Given the description of an element on the screen output the (x, y) to click on. 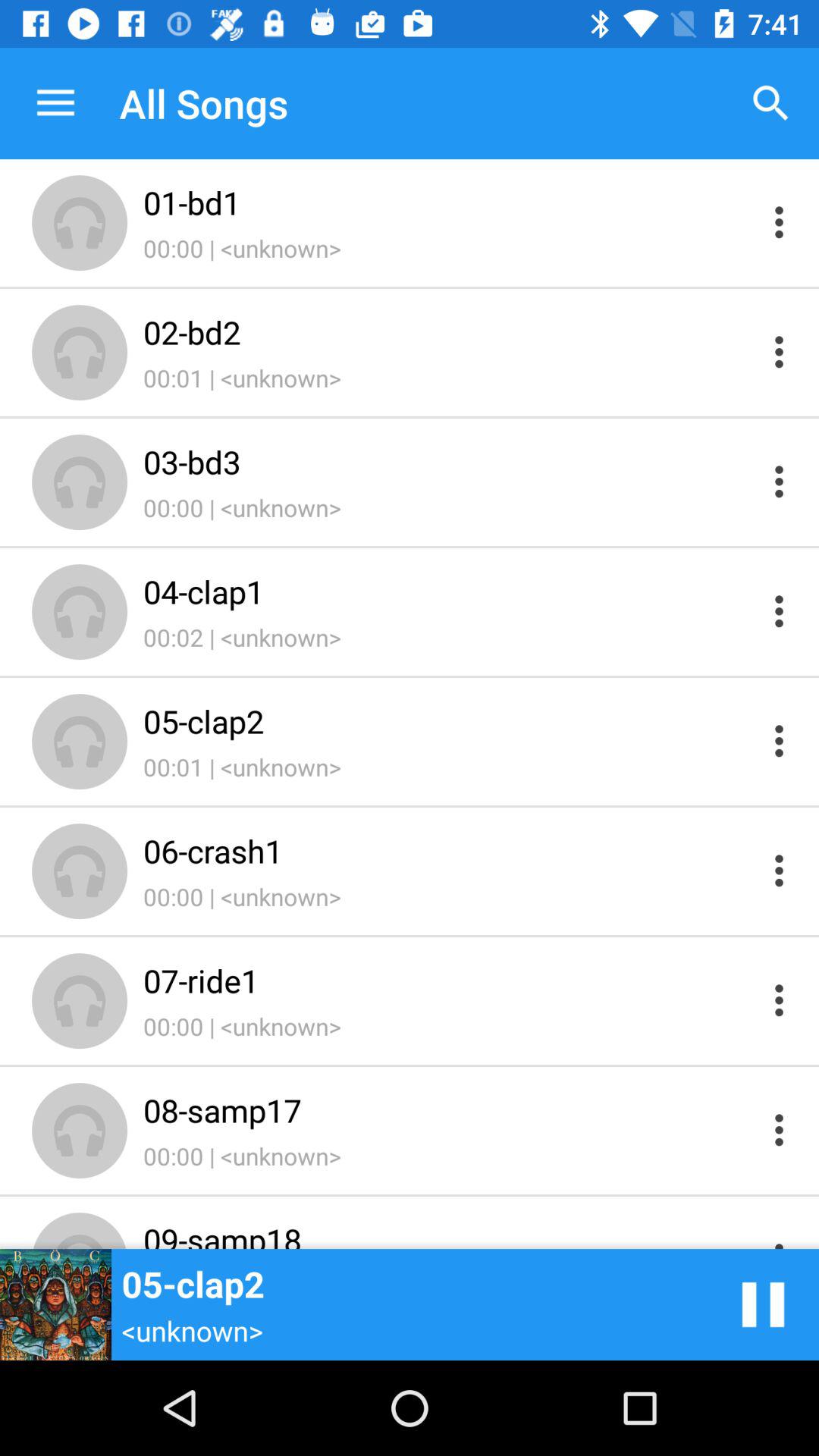
open options (779, 740)
